Given the description of an element on the screen output the (x, y) to click on. 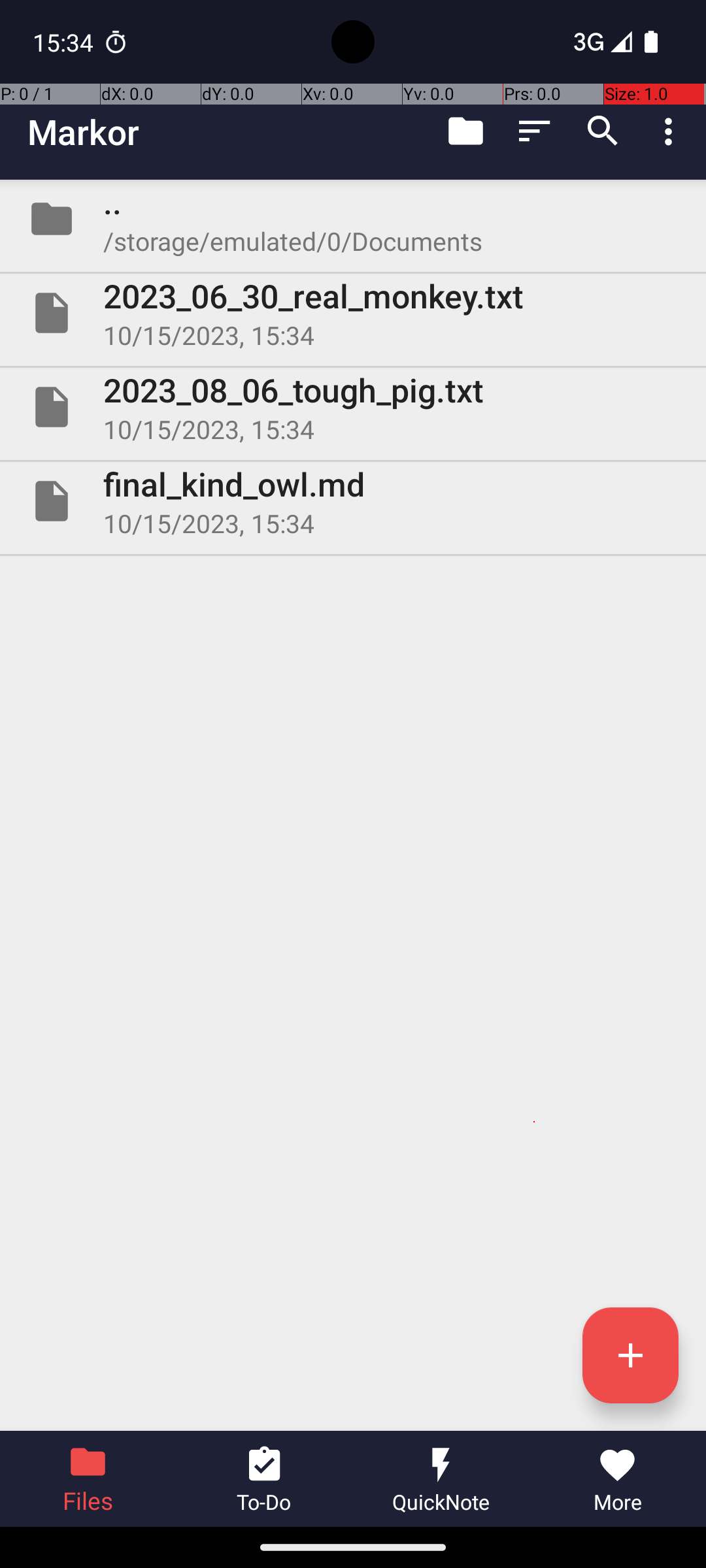
File 2023_06_30_real_monkey.txt  Element type: android.widget.LinearLayout (353, 312)
File 2023_08_06_tough_pig.txt  Element type: android.widget.LinearLayout (353, 406)
File final_kind_owl.md  Element type: android.widget.LinearLayout (353, 500)
